Given the description of an element on the screen output the (x, y) to click on. 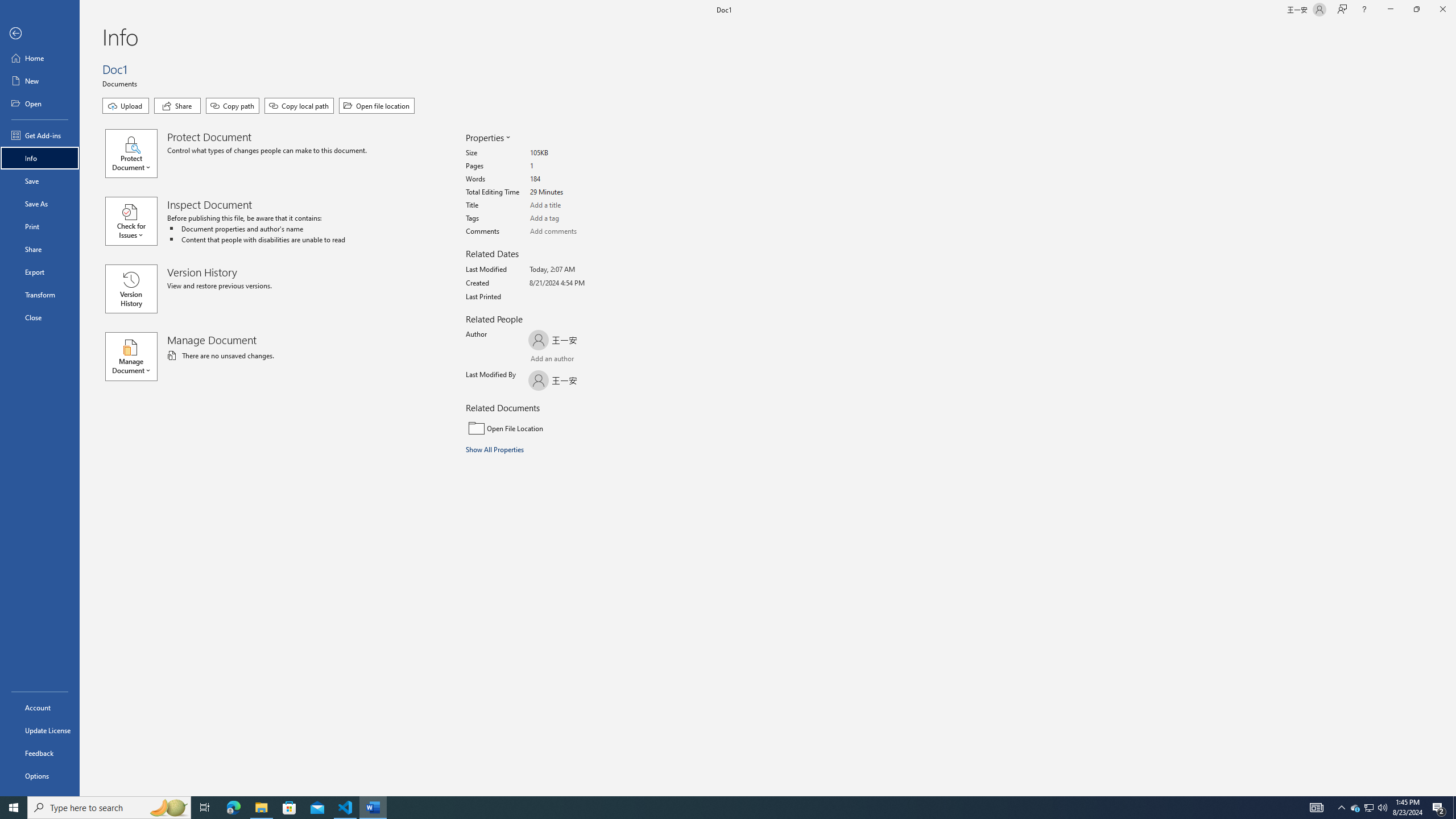
Feedback (40, 753)
Show All Properties (495, 448)
Properties (486, 137)
